Given the description of an element on the screen output the (x, y) to click on. 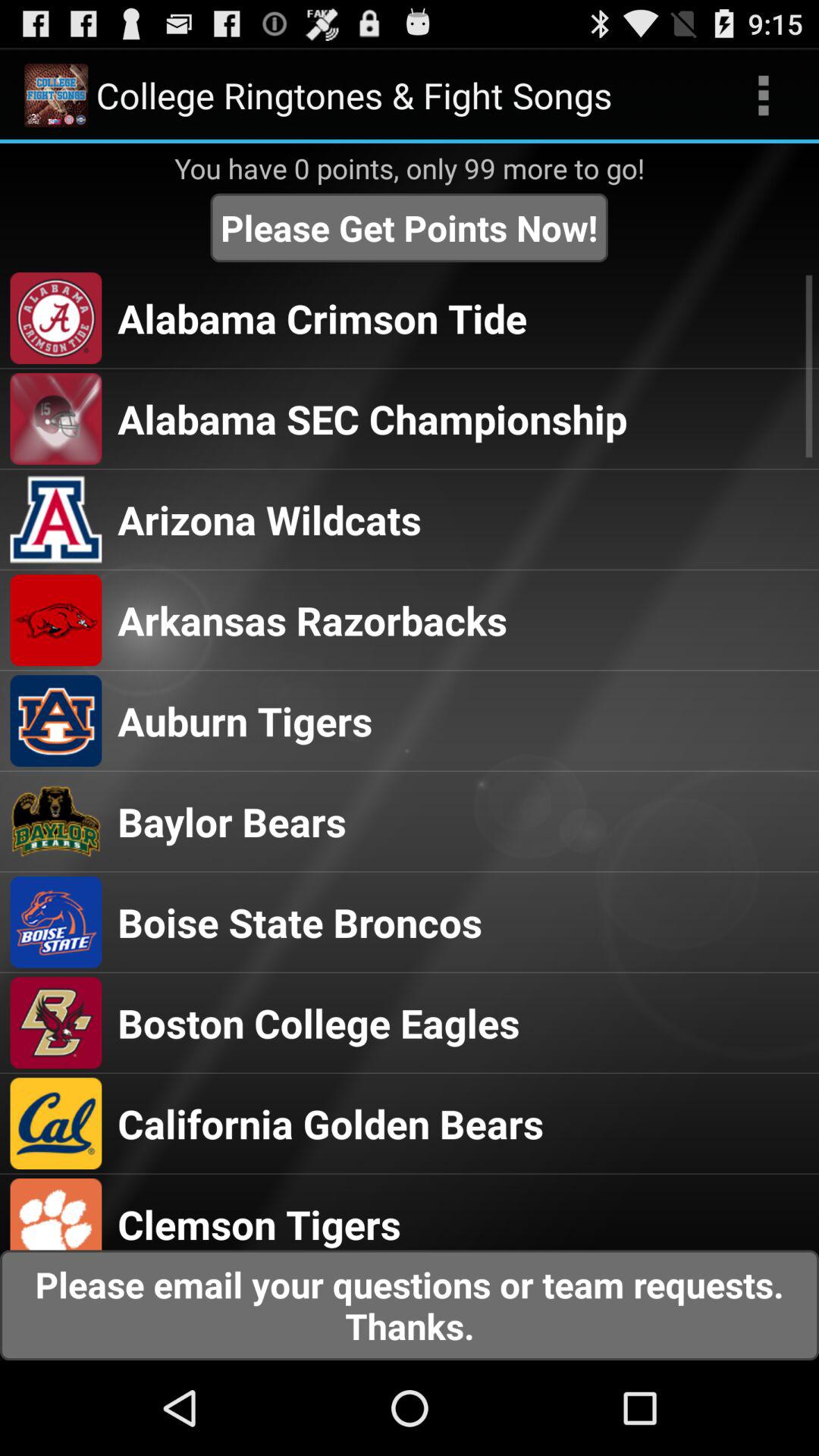
swipe to baylor bears (231, 821)
